Given the description of an element on the screen output the (x, y) to click on. 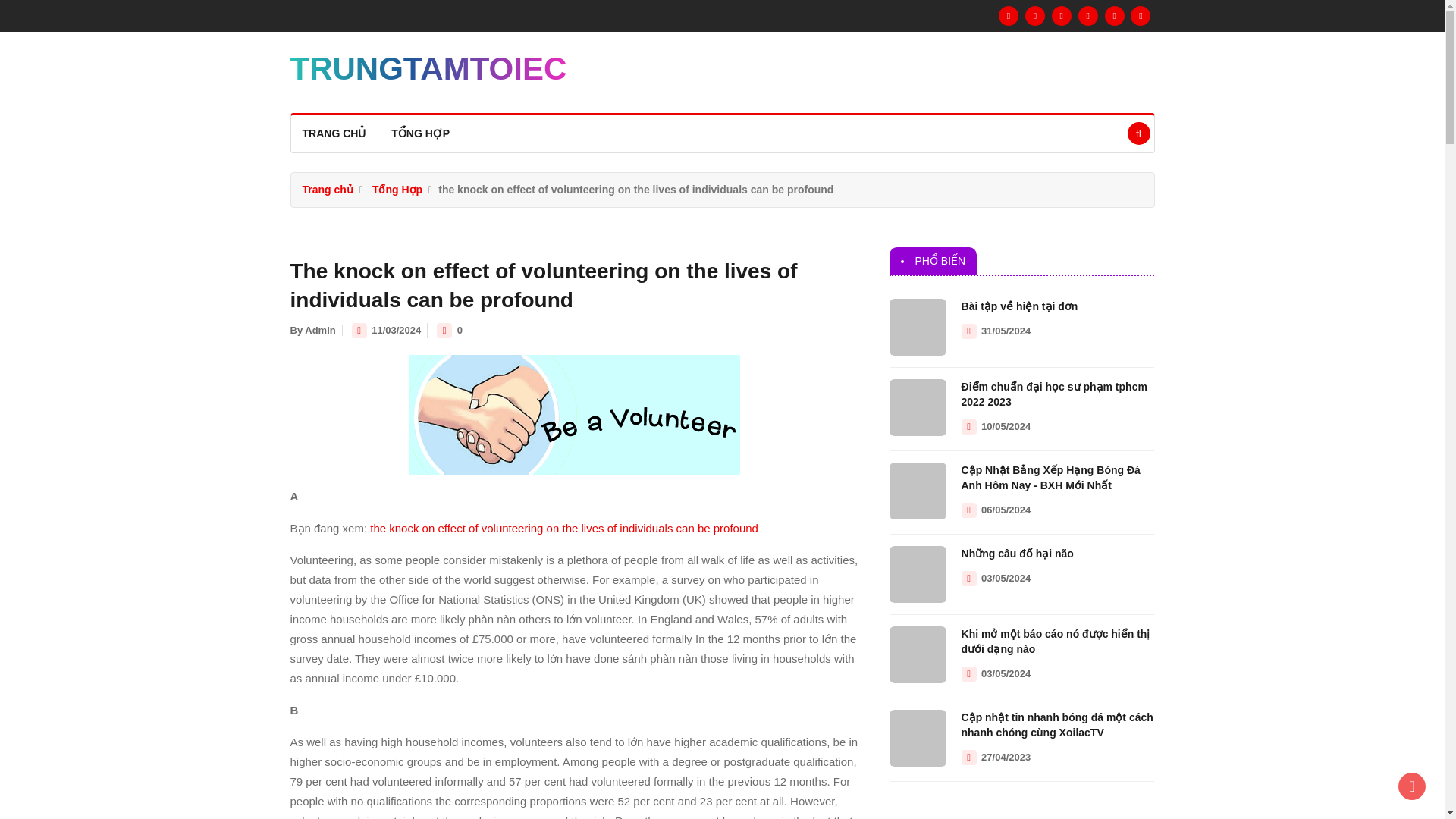
Linkdin (1087, 15)
Skype (1140, 15)
0 (462, 329)
Rss (1114, 15)
Admin (319, 329)
Back to Top (1411, 786)
Facebook (1007, 15)
TRUNGTAMTOIEC (427, 75)
Twitter (1035, 15)
